Given the description of an element on the screen output the (x, y) to click on. 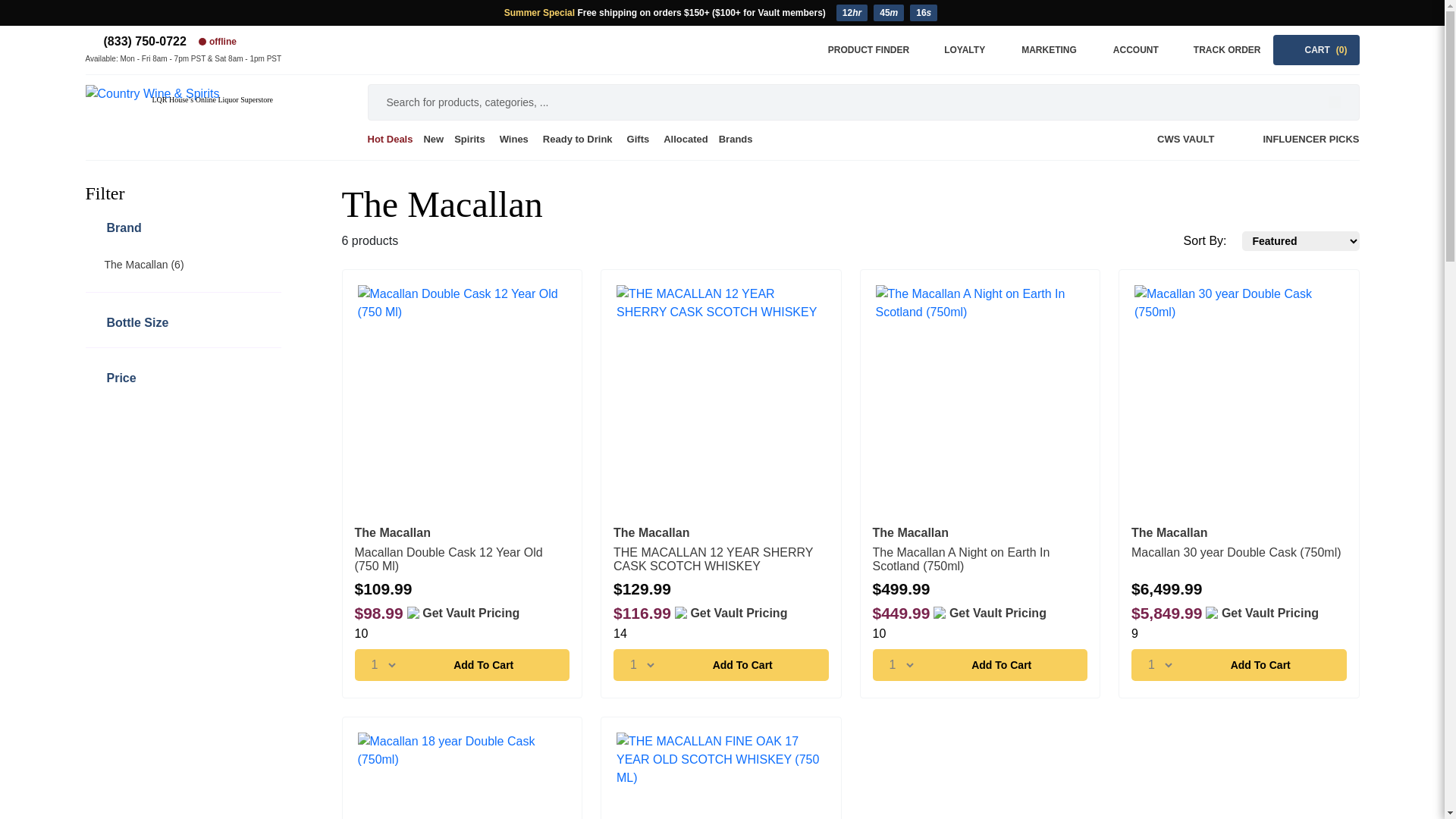
Spirits (470, 140)
PRODUCT FINDER (859, 50)
TRACK ORDER (1218, 50)
LOYALTY (956, 50)
Hot Deals (391, 140)
MARKETING (1040, 50)
ACCOUNT (1126, 50)
